Given the description of an element on the screen output the (x, y) to click on. 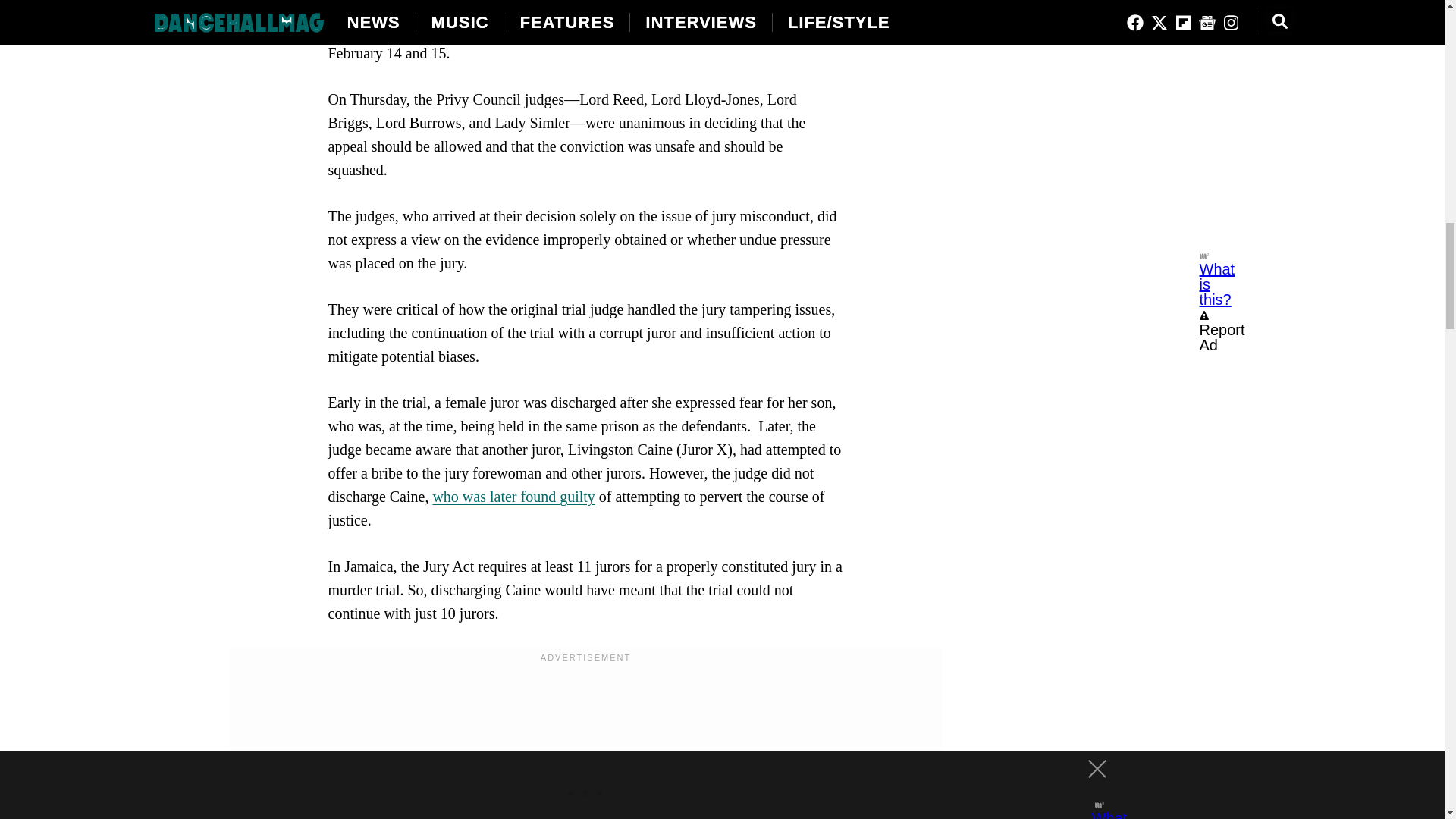
who was later found guilty (513, 496)
3rd party ad content (585, 789)
